Given the description of an element on the screen output the (x, y) to click on. 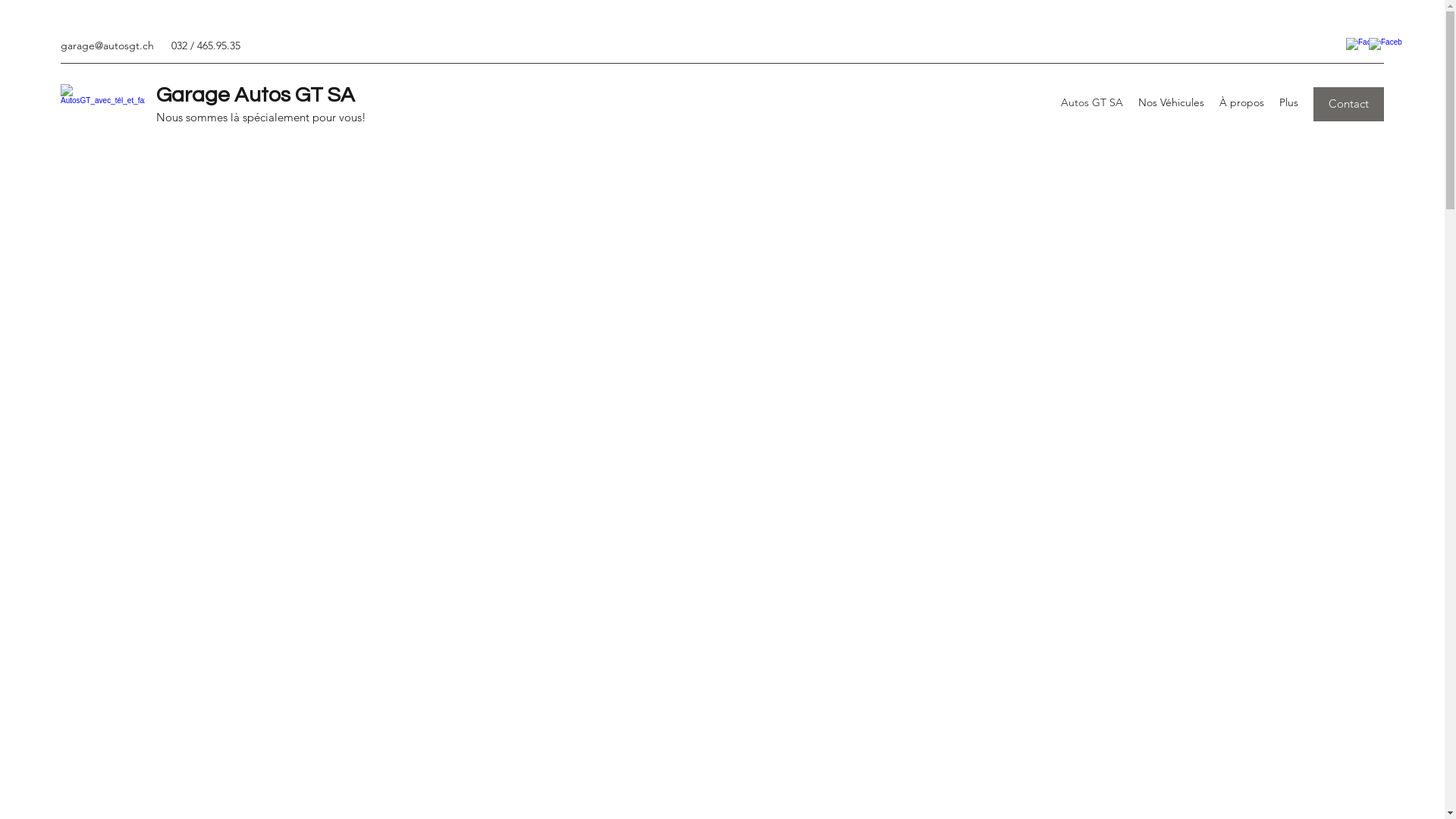
Garage Autos GT SA Element type: text (255, 95)
Contact Element type: text (1348, 104)
Autos GT SA Element type: text (1091, 104)
garage@autosgt.ch Element type: text (106, 45)
